Given the description of an element on the screen output the (x, y) to click on. 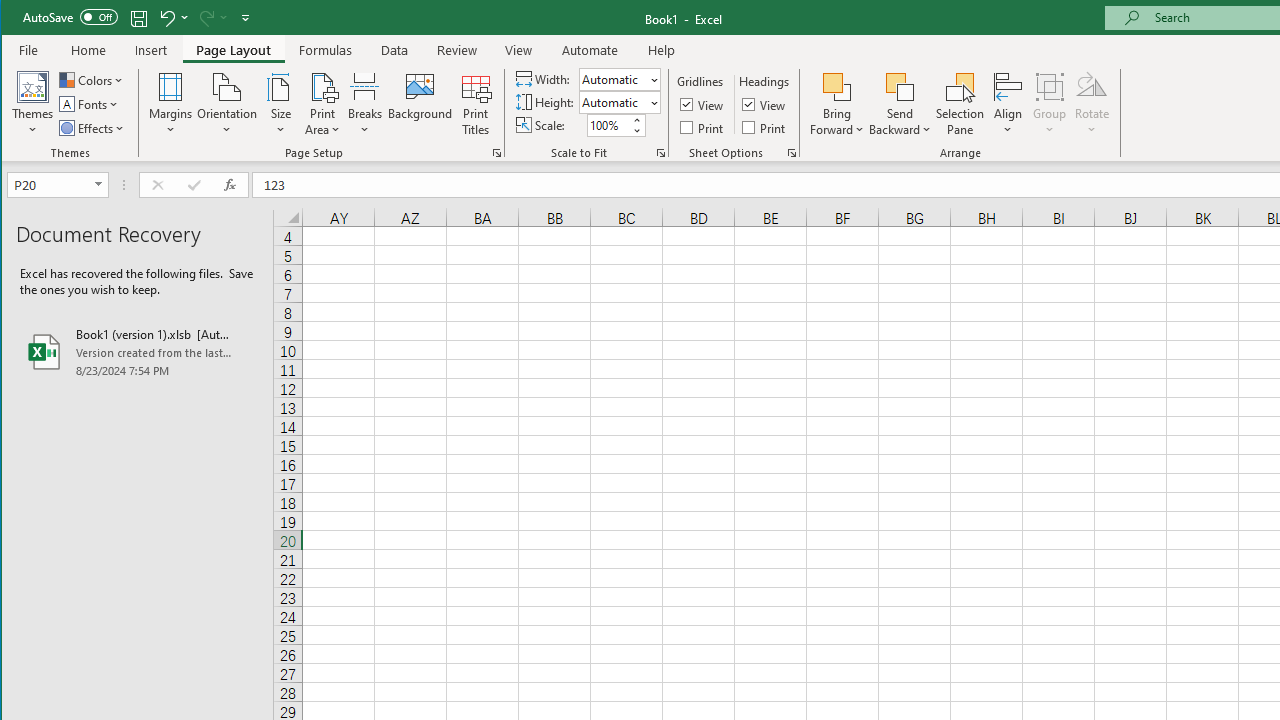
Page Setup (660, 152)
Margins (170, 104)
Help (661, 50)
Name Box (49, 184)
Size (280, 104)
View (518, 50)
Width (612, 79)
Home (88, 50)
Page Layout (233, 50)
Data (395, 50)
Orientation (226, 104)
Send Backward (900, 104)
Colors (93, 80)
Review (456, 50)
